Given the description of an element on the screen output the (x, y) to click on. 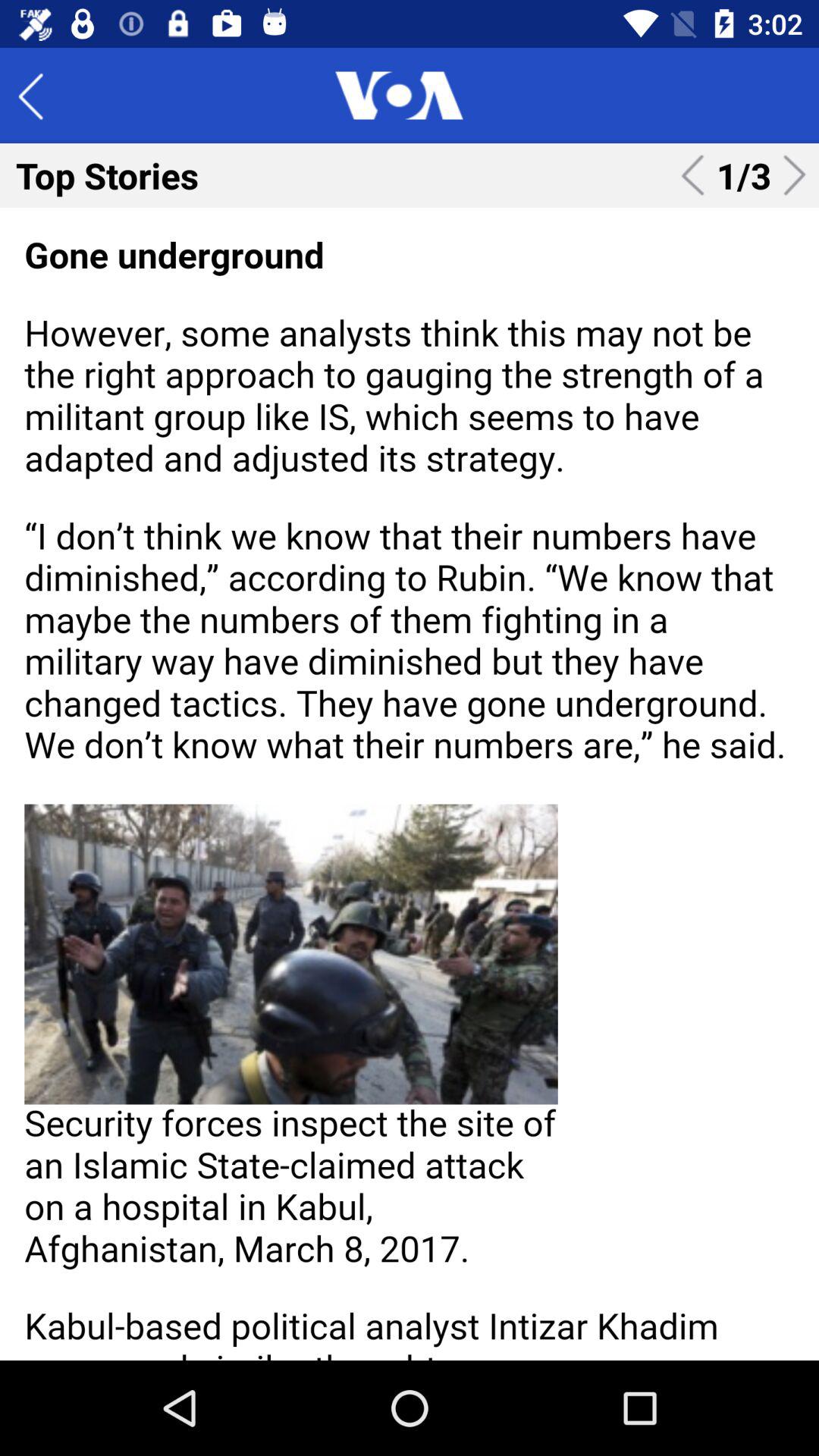
previous button (41, 95)
